Given the description of an element on the screen output the (x, y) to click on. 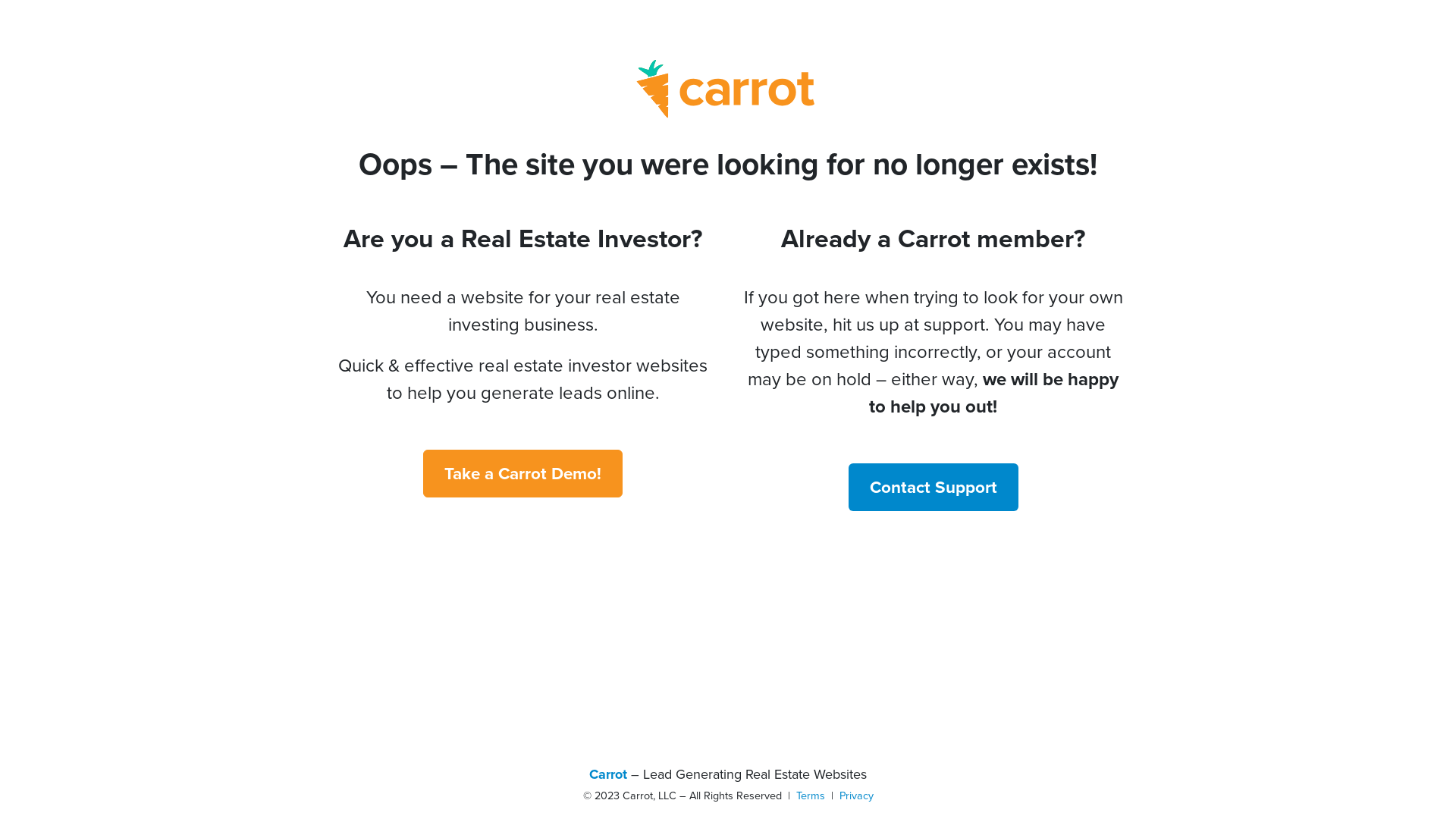
Privacy Element type: text (855, 795)
Take a Carrot Demo! Element type: text (522, 473)
Terms Element type: text (810, 795)
Contact Support Element type: text (932, 487)
Carrot Element type: text (608, 774)
